Given the description of an element on the screen output the (x, y) to click on. 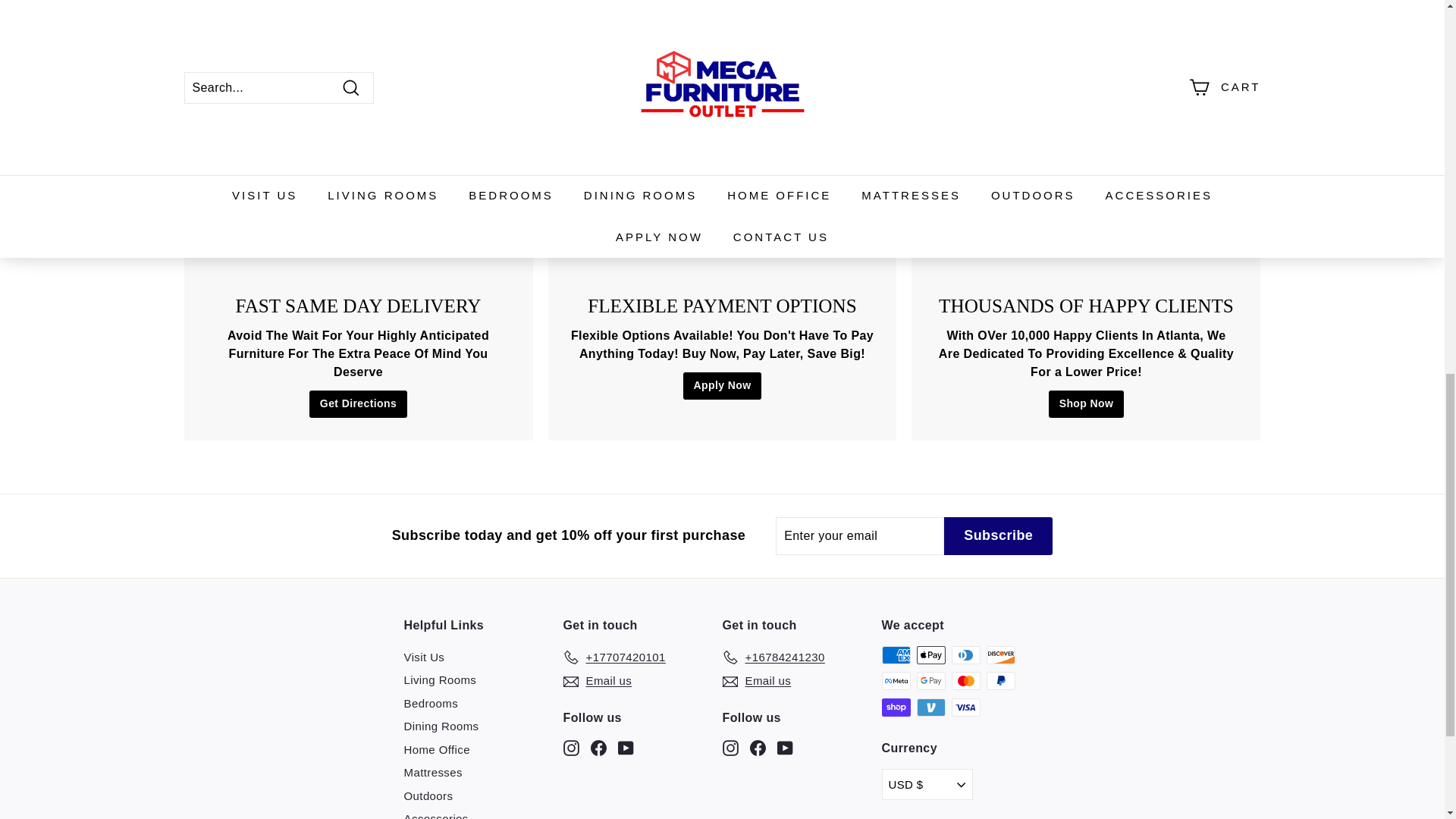
Mega Furniture GA on Facebook (597, 746)
Mega Furniture GA on Facebook (757, 746)
Mega Furniture GA on Instagram (570, 746)
Mega Furniture GA on YouTube (784, 746)
Mega Furniture GA on YouTube (625, 746)
Apple Pay (929, 655)
American Express (895, 655)
Mega Furniture GA on Instagram (730, 746)
